Given the description of an element on the screen output the (x, y) to click on. 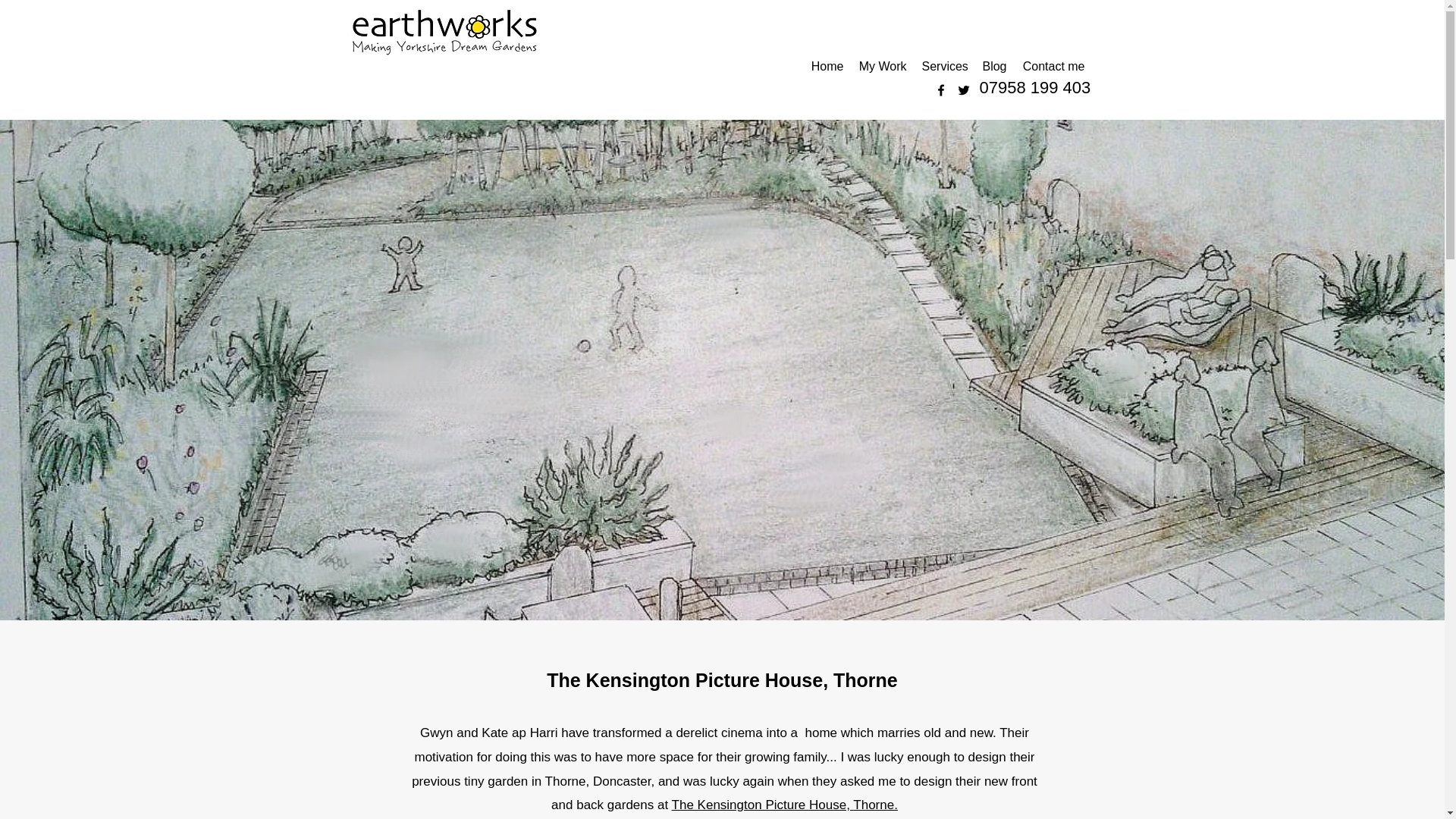
Contact me (1053, 66)
Services (944, 66)
Blog (994, 66)
Home (826, 66)
The Kensington Picture House, Thorne. (784, 804)
My Work (882, 66)
